Given the description of an element on the screen output the (x, y) to click on. 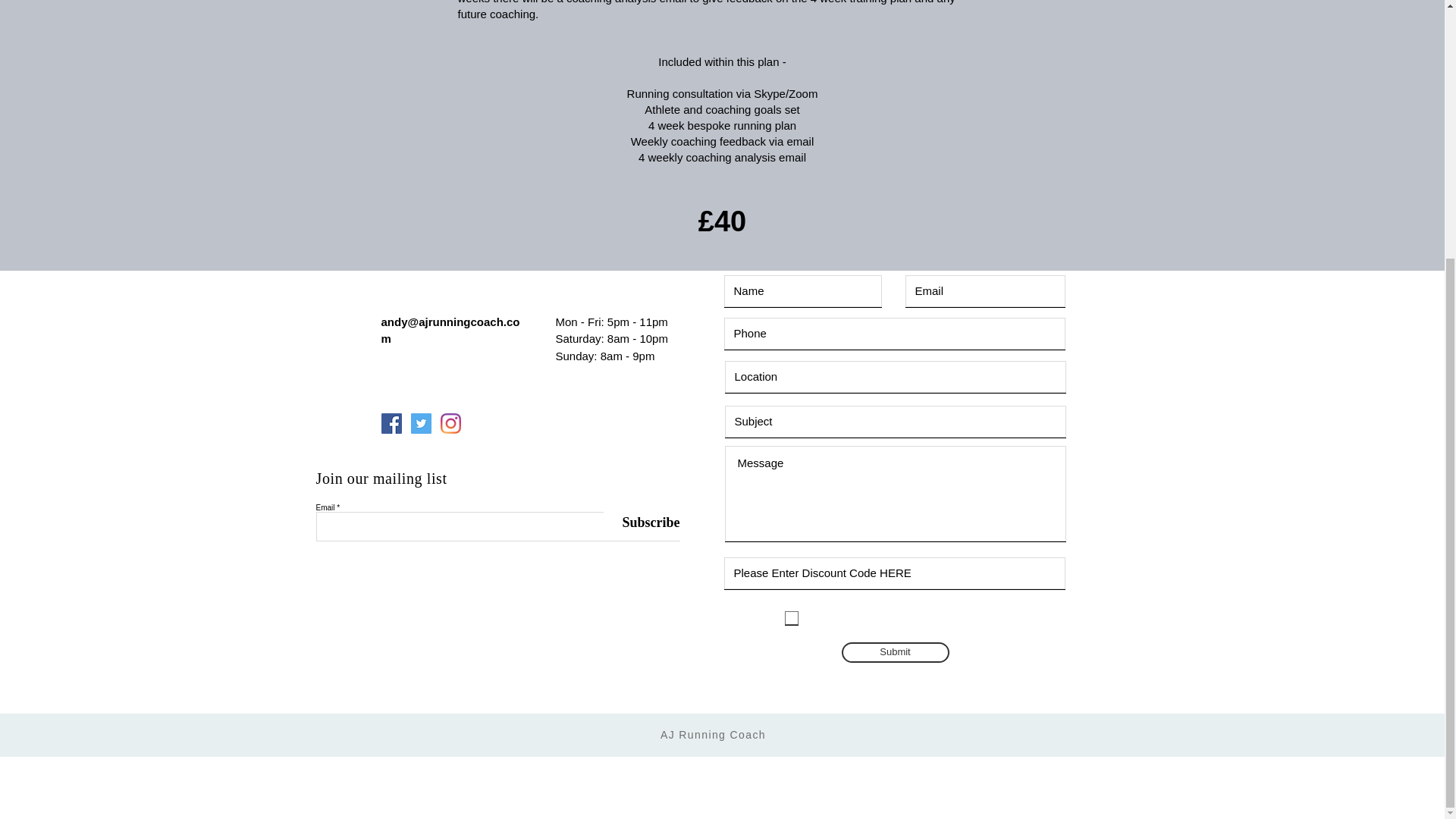
Submit (895, 652)
Subscribe (641, 522)
